Given the description of an element on the screen output the (x, y) to click on. 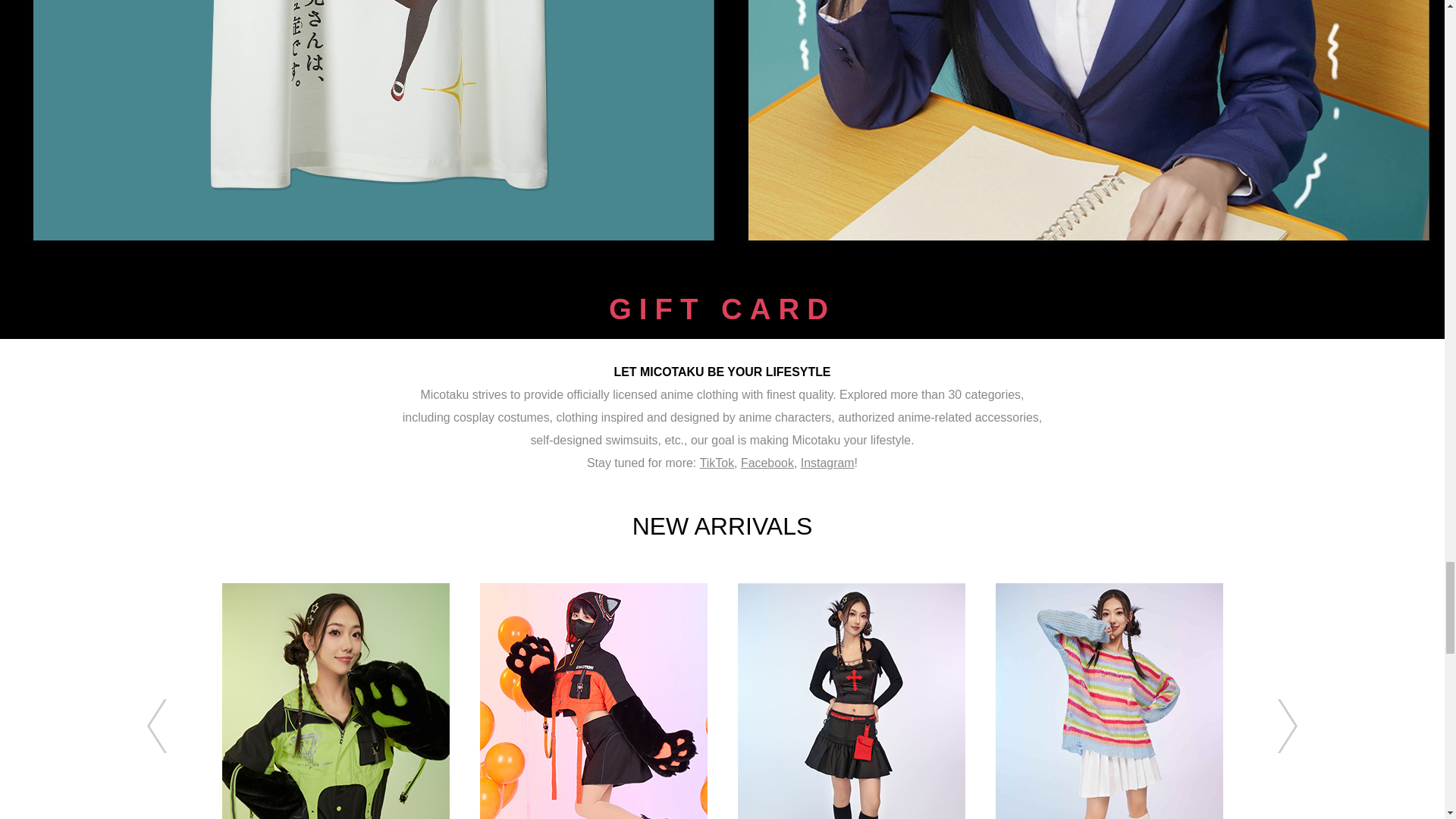
Micotaku Rainbow Stripe Loose Fit Casual Wear Sweater (1108, 701)
Micotaku Black and Red Casual Layered Skirt (849, 701)
